Given the description of an element on the screen output the (x, y) to click on. 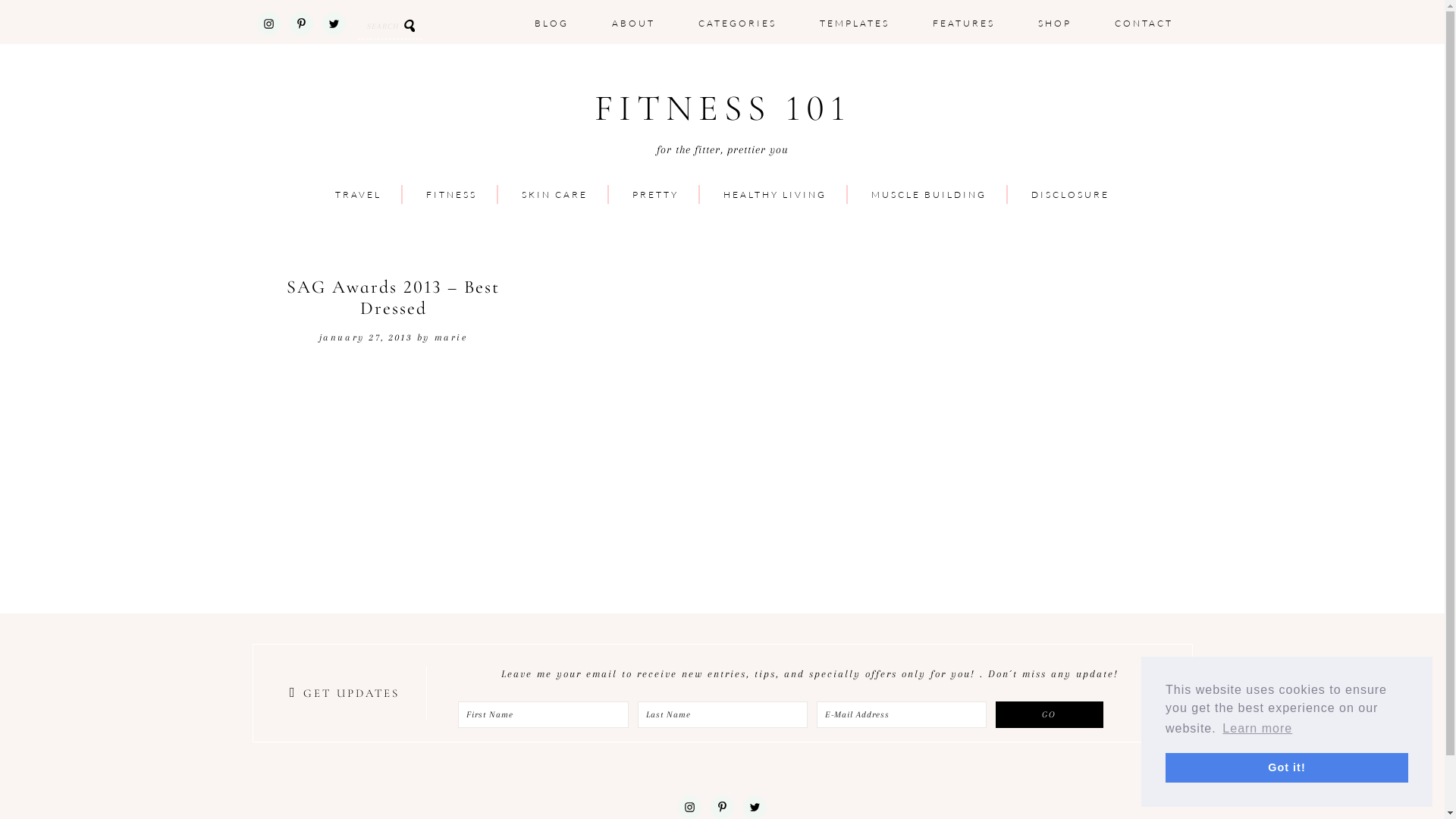
CATEGORIES Element type: text (736, 23)
DISCLOSURE Element type: text (1070, 194)
ABOUT Element type: text (632, 23)
FITNESS Element type: text (451, 194)
Learn more Element type: text (1257, 728)
TRAVEL Element type: text (358, 194)
CONTACT Element type: text (1143, 23)
HEALTHY LIVING Element type: text (774, 194)
PRETTY Element type: text (655, 194)
MUSCLE BUILDING Element type: text (928, 194)
FITNESS 101 Element type: text (721, 109)
Got it! Element type: text (1286, 767)
marie Element type: text (450, 337)
Go Element type: text (1049, 714)
TEMPLATES Element type: text (853, 23)
SHOP Element type: text (1053, 23)
FEATURES Element type: text (963, 23)
SKIN CARE Element type: text (554, 194)
BLOG Element type: text (550, 23)
